Given the description of an element on the screen output the (x, y) to click on. 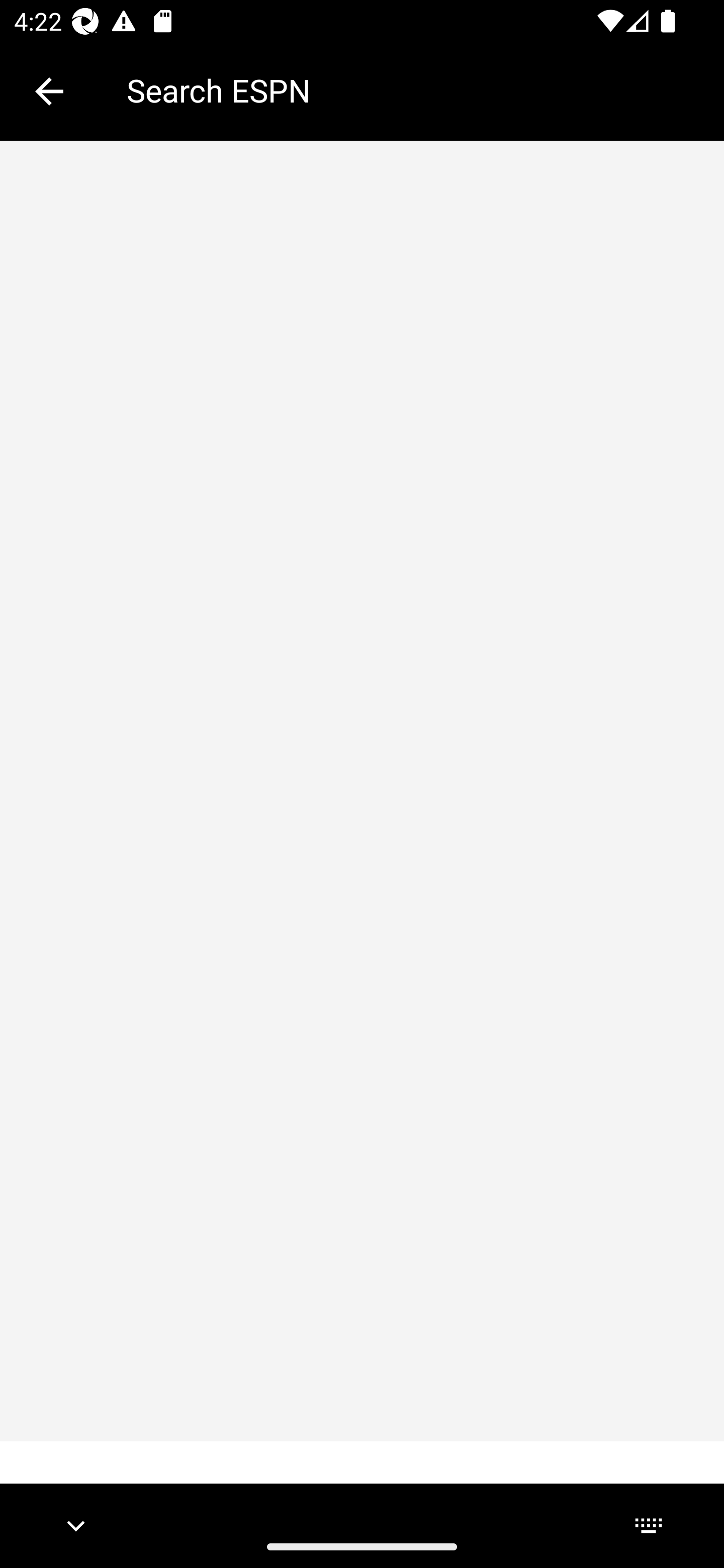
Collapse (49, 91)
Search ESPN (411, 90)
